Given the description of an element on the screen output the (x, y) to click on. 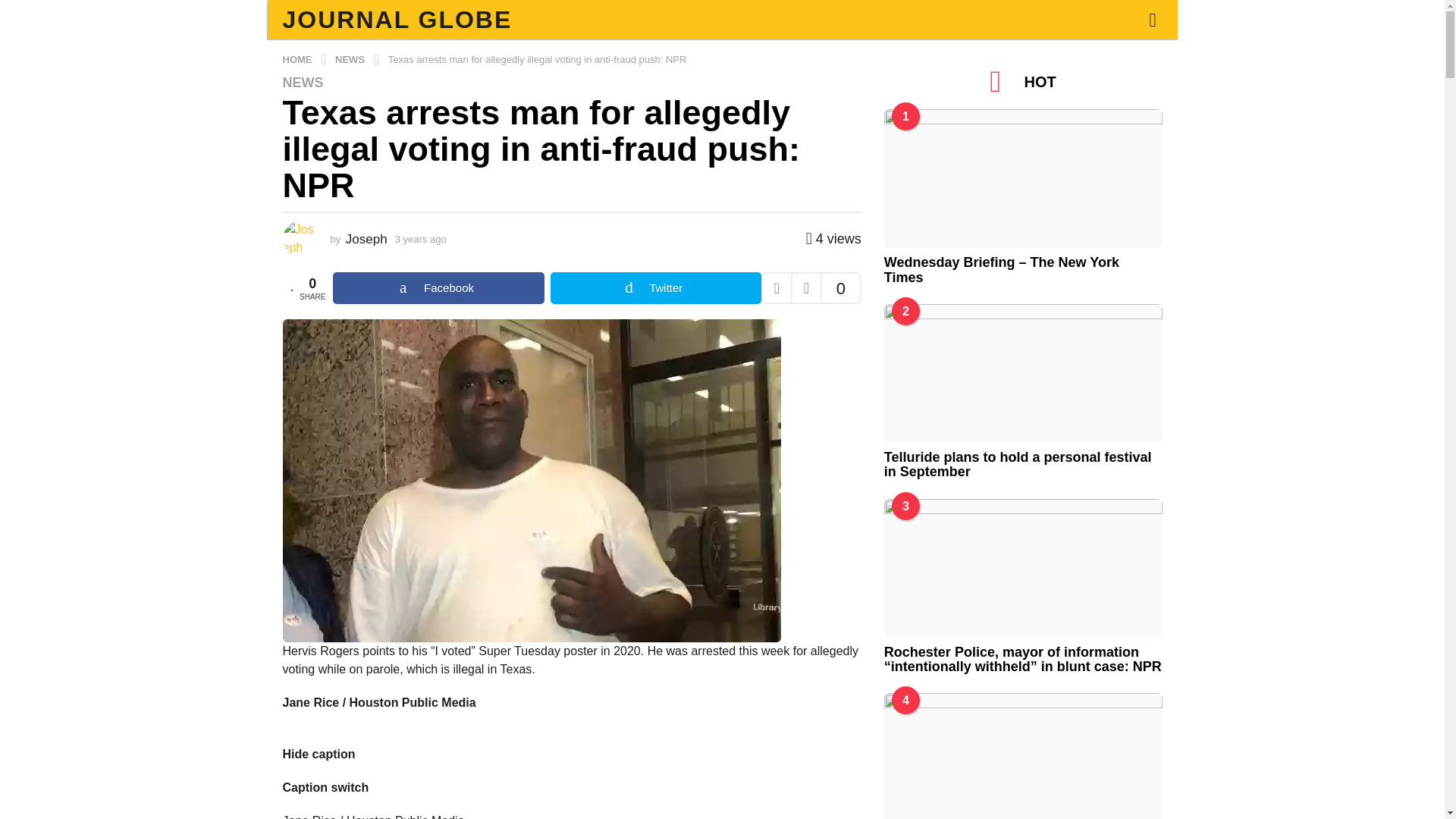
Share on Twitter (655, 287)
Facebook (438, 287)
Twitter (655, 287)
NEWS (351, 58)
Joseph (366, 238)
HOME (298, 58)
NEWS (302, 82)
JOURNAL GLOBE (397, 19)
Share on Facebook (438, 287)
